Given the description of an element on the screen output the (x, y) to click on. 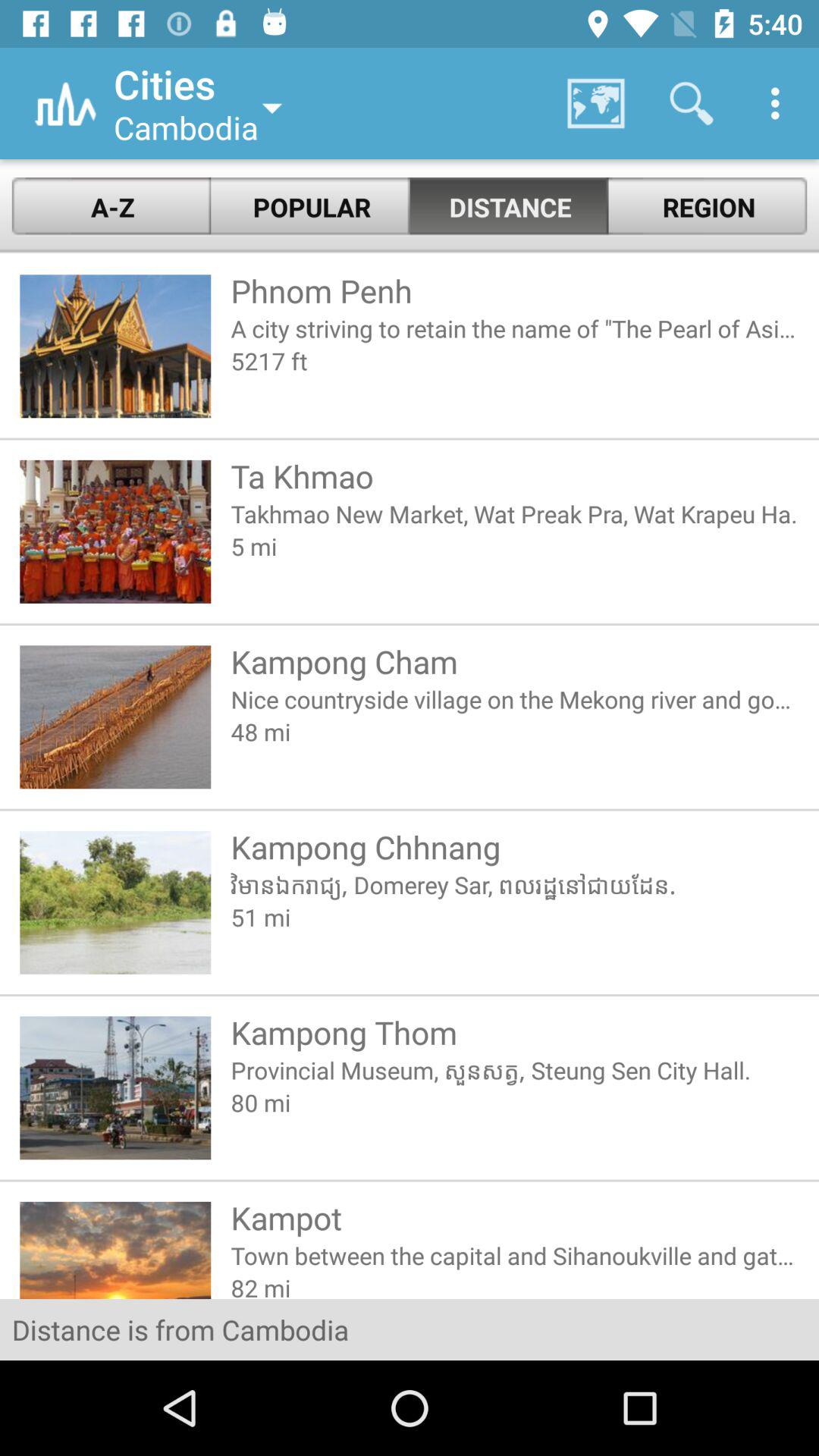
open icon above the 5 mi item (514, 513)
